Given the description of an element on the screen output the (x, y) to click on. 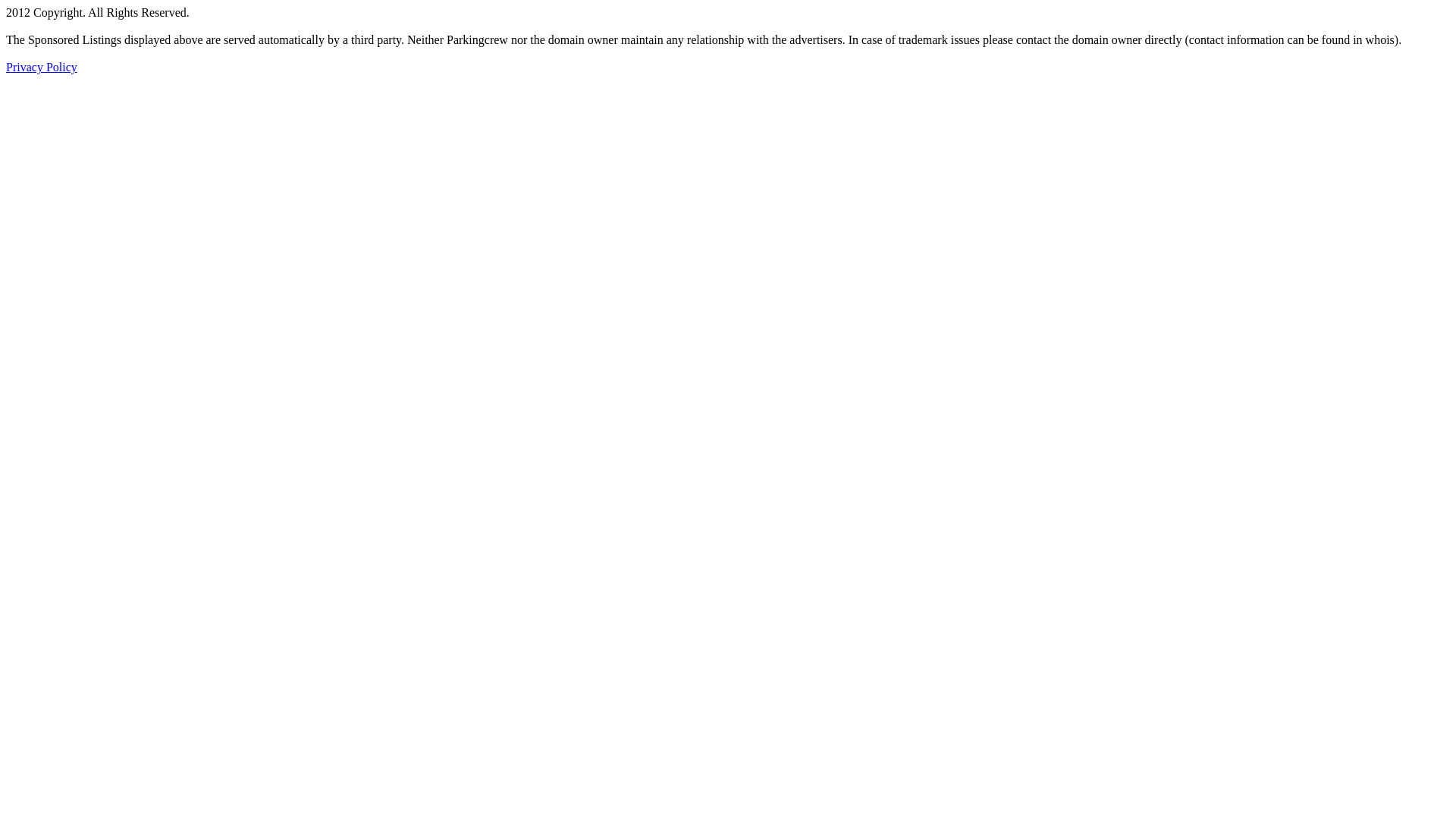
Privacy Policy Element type: text (41, 66)
